Given the description of an element on the screen output the (x, y) to click on. 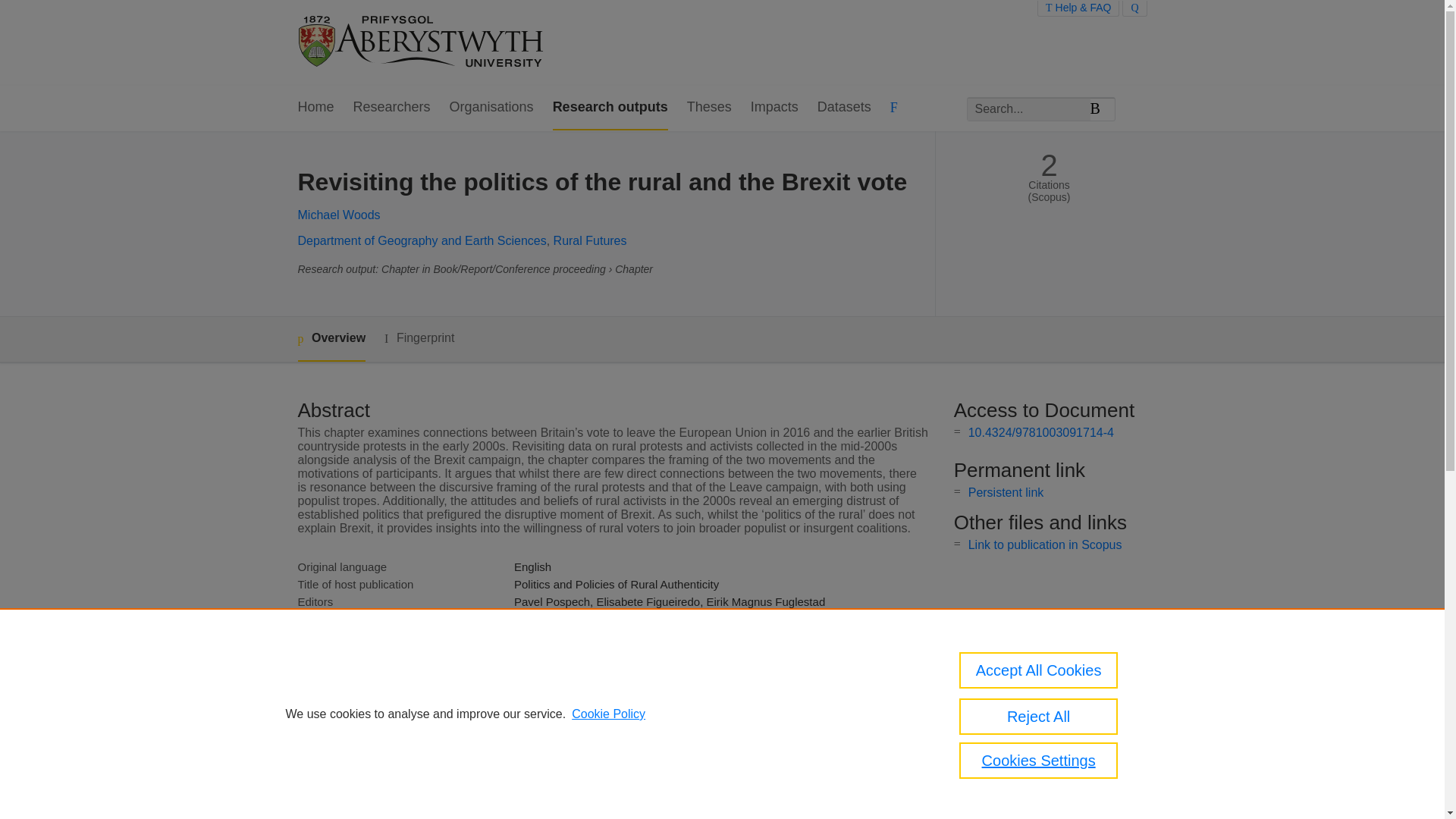
Department of Geography and Earth Sciences (421, 240)
Theses (709, 107)
Organisations (491, 107)
Link to publication in Scopus (1045, 544)
Persistent link (1005, 492)
Research outputs (610, 107)
Overview (331, 338)
Michael Woods (338, 214)
Researchers (391, 107)
Datasets (843, 107)
Aberystwyth Research Portal Home (422, 42)
Fingerprint (419, 338)
Impacts (774, 107)
Rural Futures (590, 240)
